Given the description of an element on the screen output the (x, y) to click on. 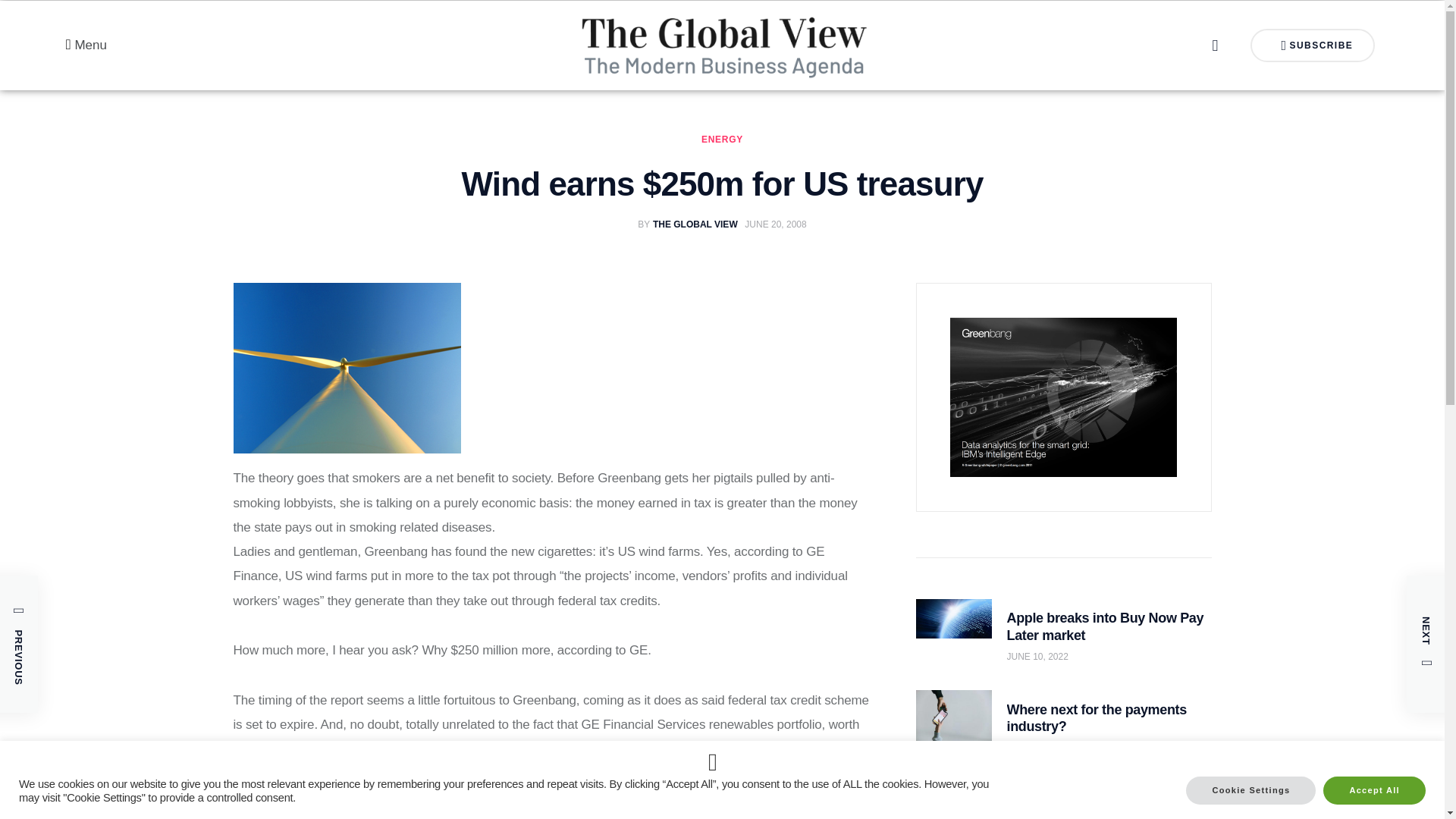
SUBSCRIBE (690, 223)
turbine.jpg (1312, 45)
ENERGY (346, 367)
